Given the description of an element on the screen output the (x, y) to click on. 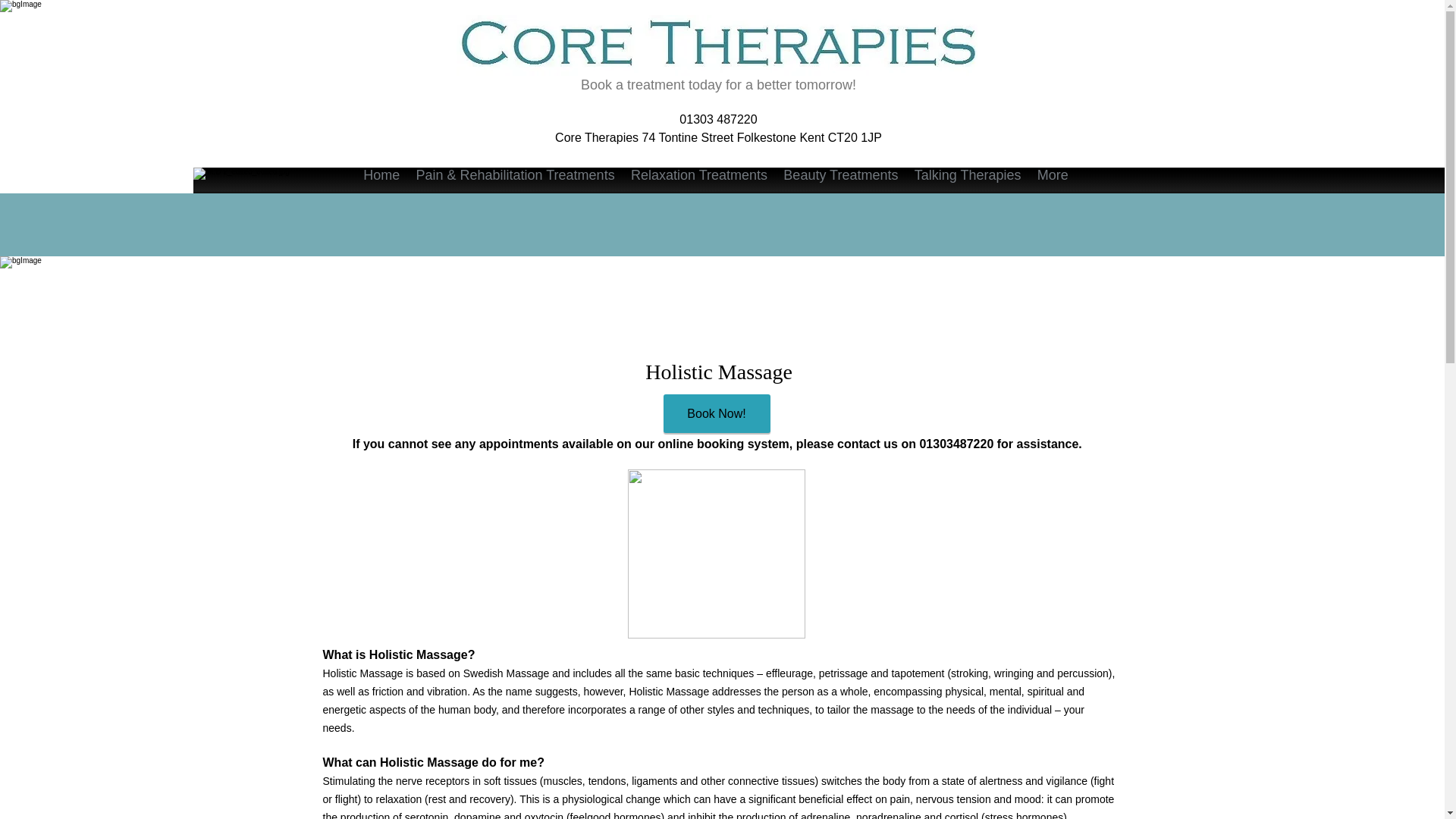
Home (381, 175)
Book A Treatment Today For A Better Tomorrow! (716, 45)
Relaxation Treatments (698, 175)
More (1052, 175)
Book Now! (716, 413)
Talking Therapies (967, 175)
Beauty Treatments (840, 175)
